Given the description of an element on the screen output the (x, y) to click on. 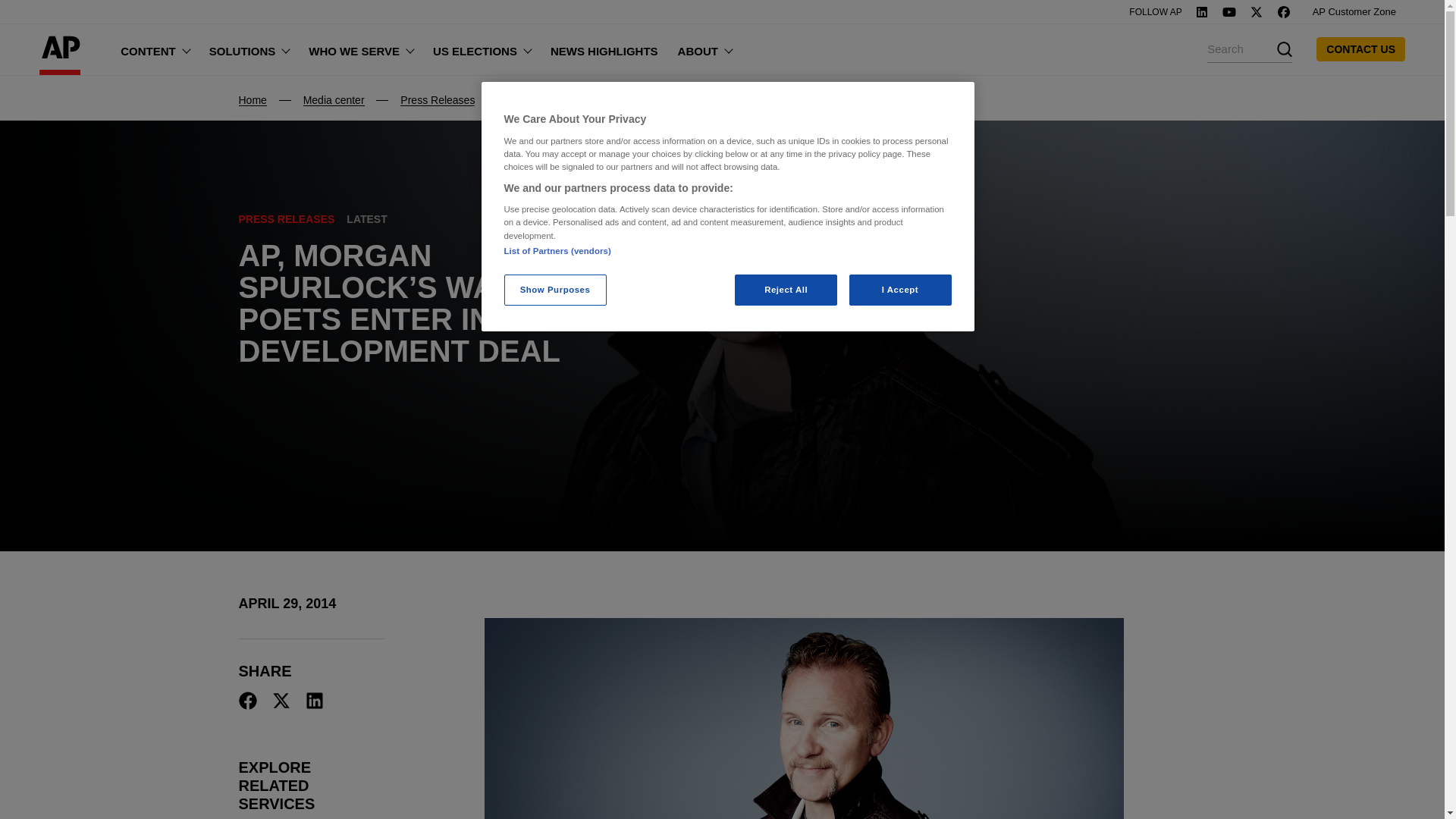
Linkedin (1201, 11)
AP Customer Zone (1354, 11)
Share on Twitter (279, 700)
CONTENT (154, 49)
Youtube (1228, 11)
Share on LinkedIn (313, 700)
Share on Facebook (247, 700)
Facebook (1283, 11)
SOLUTIONS (249, 49)
Twitter (1256, 11)
